Given the description of an element on the screen output the (x, y) to click on. 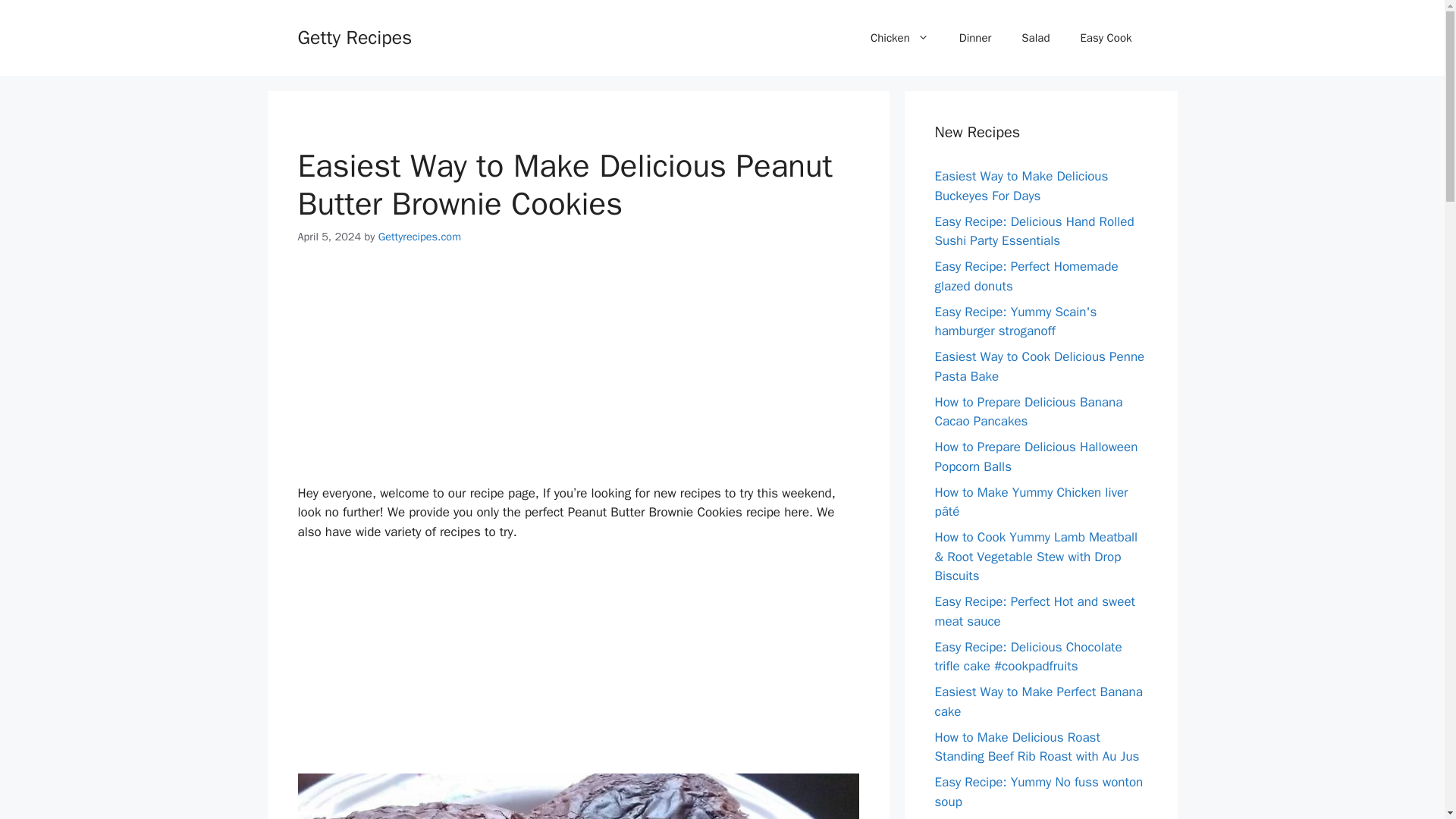
View all posts by Gettyrecipes.com (419, 236)
Advertisement (578, 667)
Advertisement (578, 377)
Easy Recipe: Yummy Scain's hamburger stroganoff (1015, 321)
Chicken (899, 37)
Easy Recipe: Perfect Homemade glazed donuts (1026, 276)
Easy Cook (1105, 37)
Easiest Way to Make Delicious Buckeyes For Days (1021, 185)
Easiest Way to Cook Delicious Penne Pasta Bake (1039, 366)
Dinner (975, 37)
Getty Recipes (354, 37)
Salad (1035, 37)
Gettyrecipes.com (419, 236)
Easy Recipe: Delicious Hand Rolled Sushi Party Essentials (1034, 231)
